Given the description of an element on the screen output the (x, y) to click on. 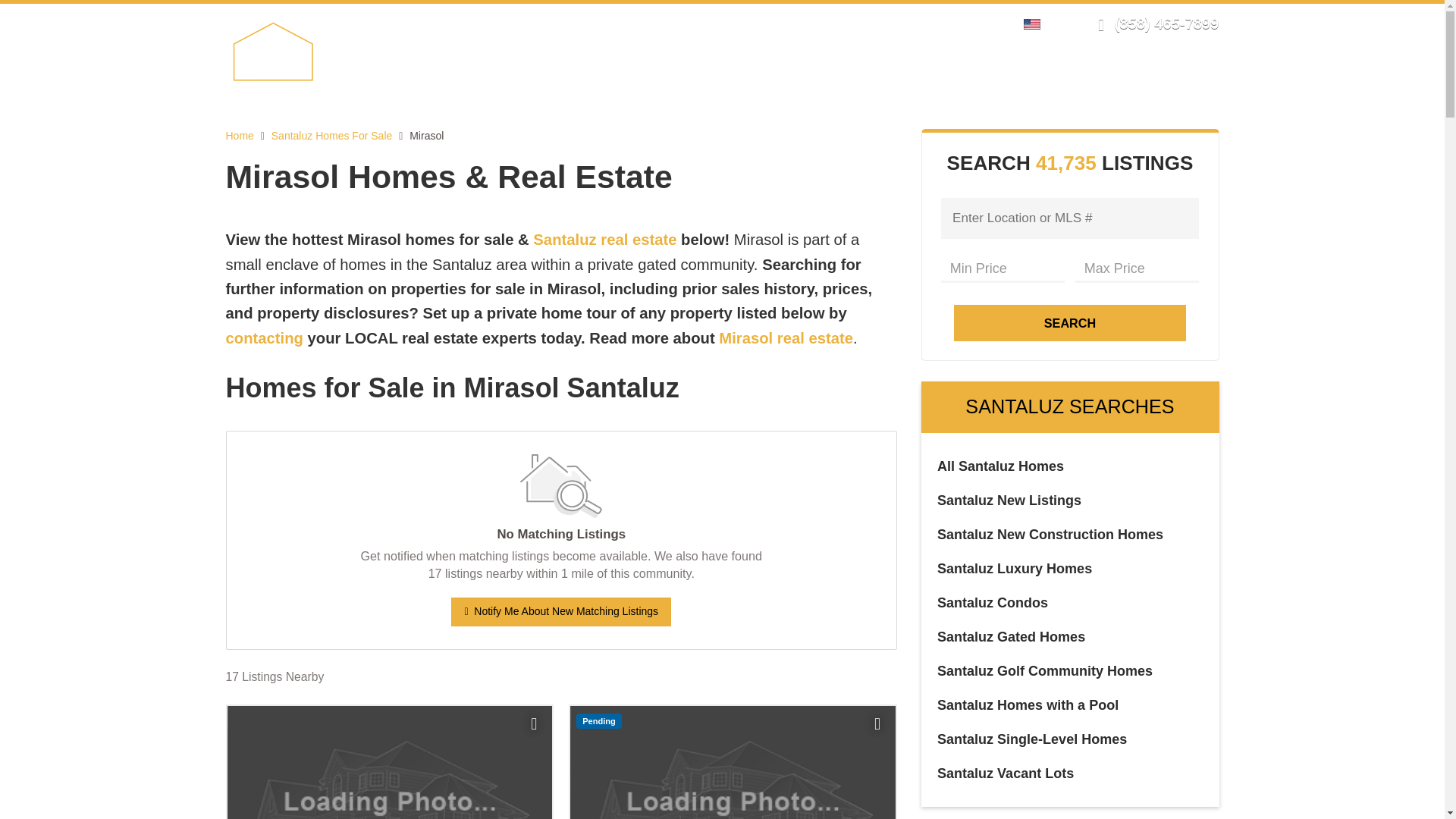
Register (948, 23)
Home Page (307, 50)
Login (900, 23)
Buy (685, 77)
Select Language (1035, 23)
Sell (633, 77)
Browse Communities (795, 77)
Homes for Sale in Mirasol Santaluz (561, 388)
